Given the description of an element on the screen output the (x, y) to click on. 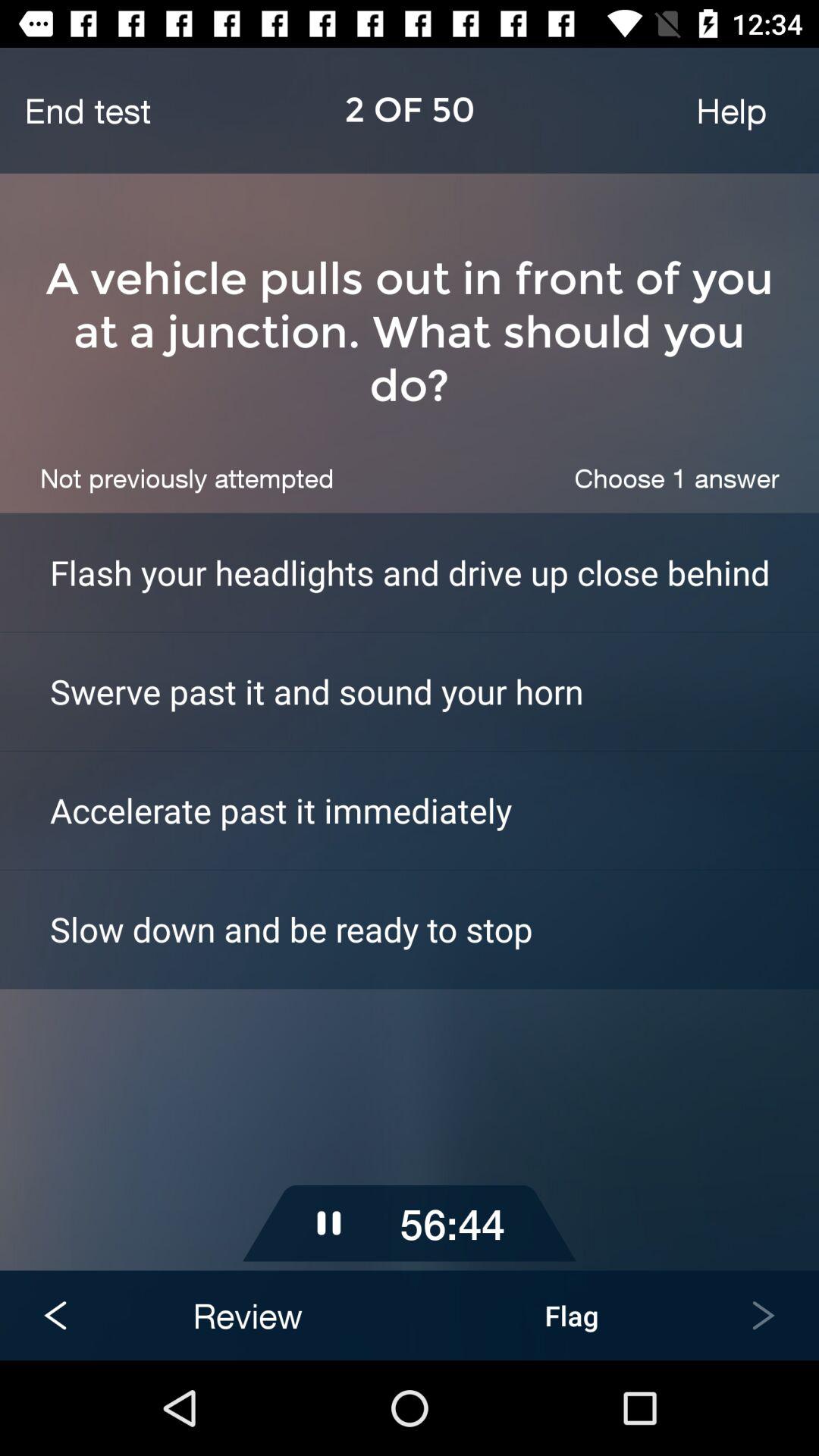
launch the icon next to choose 1 answer item (186, 477)
